Given the description of an element on the screen output the (x, y) to click on. 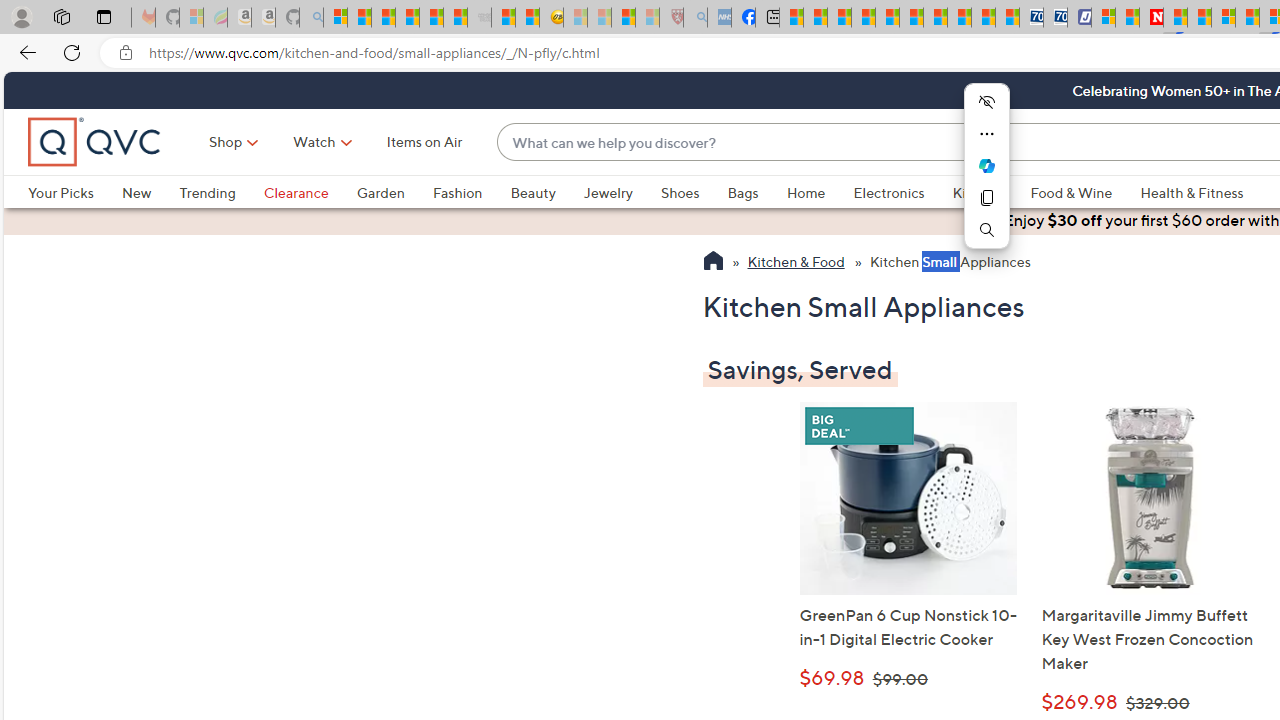
World - MSN (839, 17)
Clearance (295, 192)
MSNBC - MSN (790, 17)
Hide menu (986, 101)
Jewelry (621, 192)
Beauty (546, 192)
Electronics (888, 192)
Latest Politics News & Archive | Newsweek.com (1151, 17)
